Given the description of an element on the screen output the (x, y) to click on. 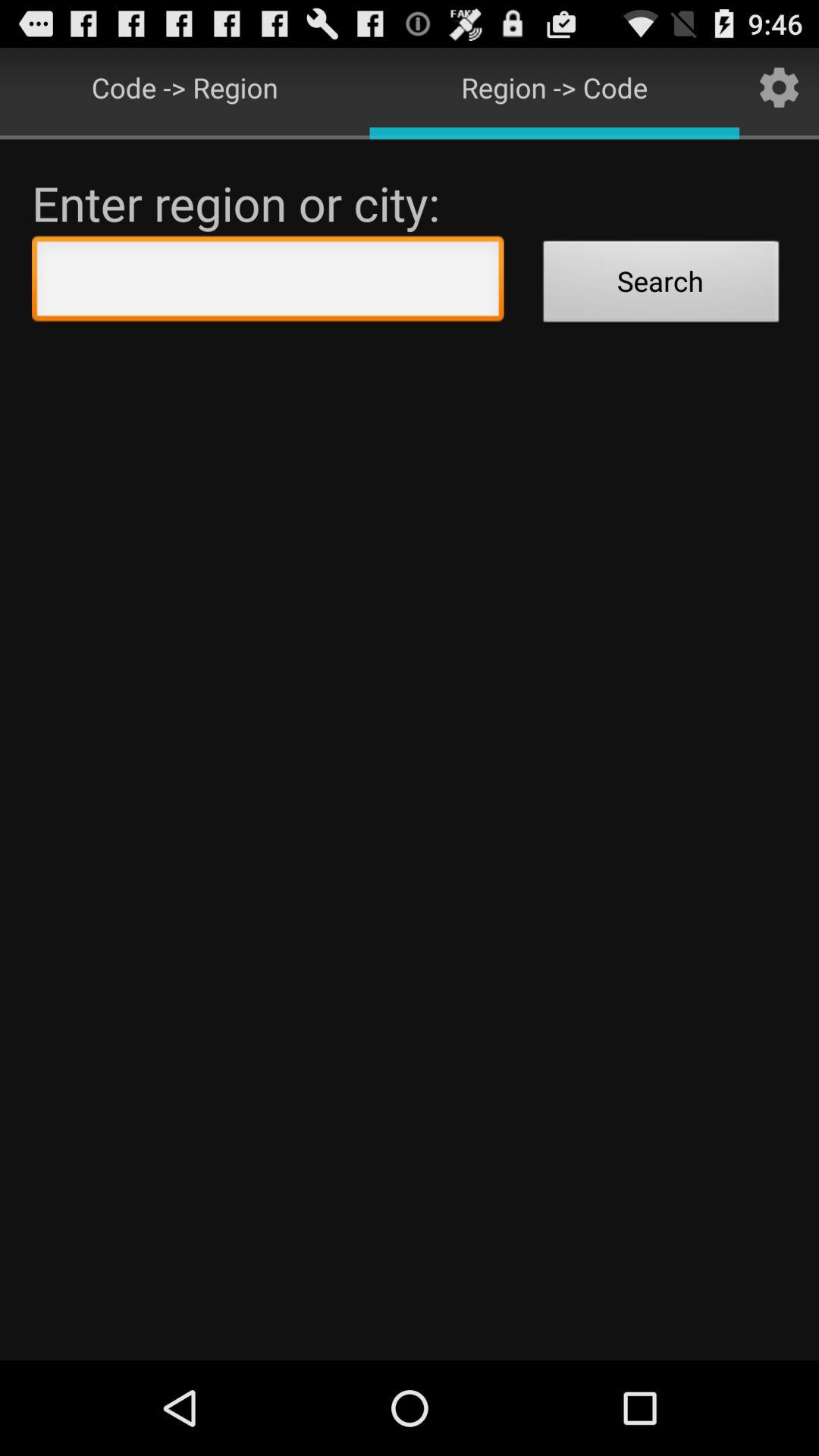
scroll until the search button (661, 284)
